Given the description of an element on the screen output the (x, y) to click on. 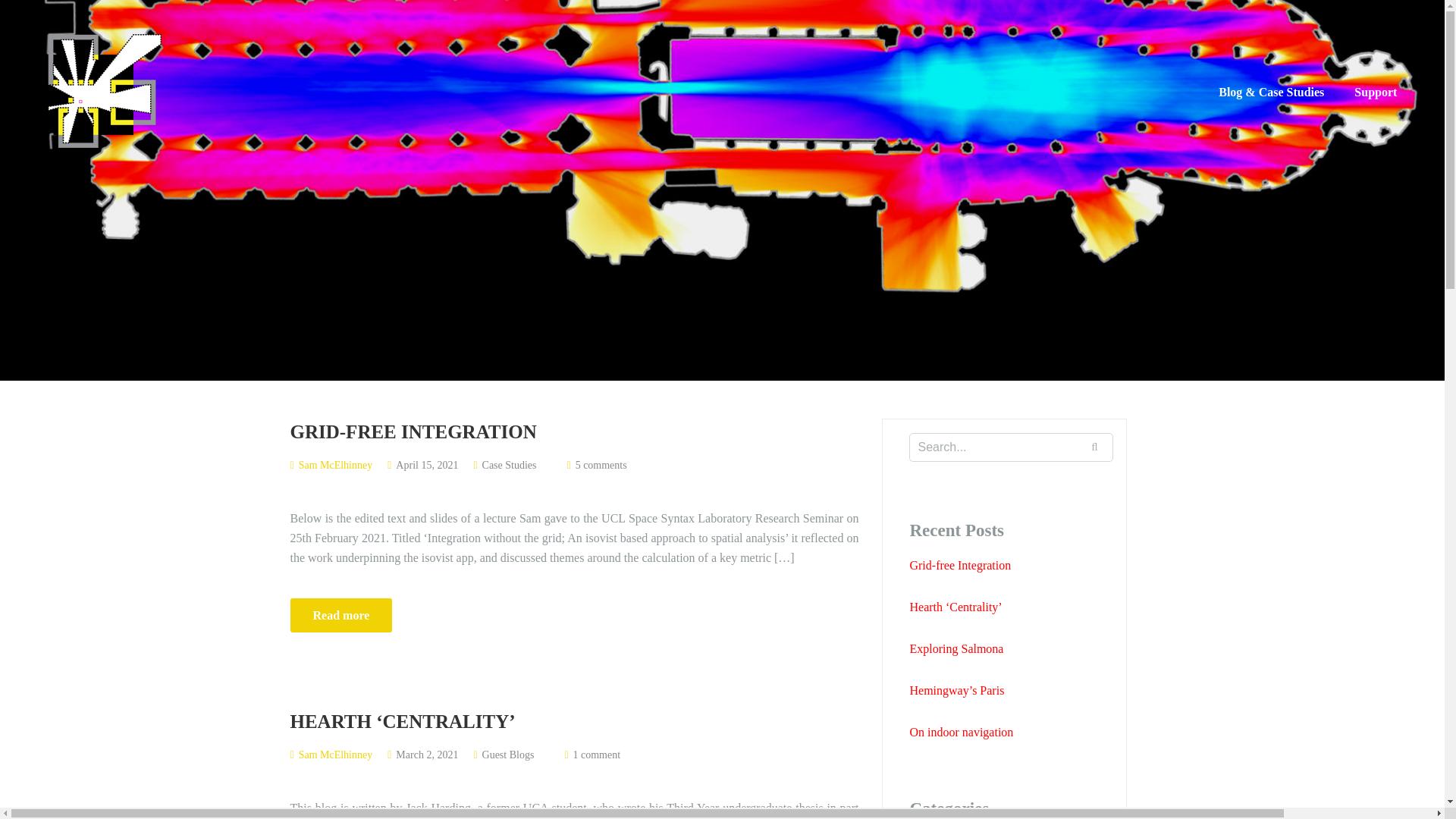
Support (1375, 91)
5 comments (601, 464)
Grid-free Integration (1010, 565)
On indoor navigation (1010, 732)
5 comments (601, 464)
Read more (340, 615)
Isovists.org (104, 89)
Guest Blogs (507, 754)
GRID-FREE INTEGRATION (574, 431)
Exploring Salmona (1010, 648)
1 comment (597, 754)
Read more (340, 615)
Case Studies (509, 464)
Grid-free Integration (574, 431)
1 comment (597, 754)
